Given the description of an element on the screen output the (x, y) to click on. 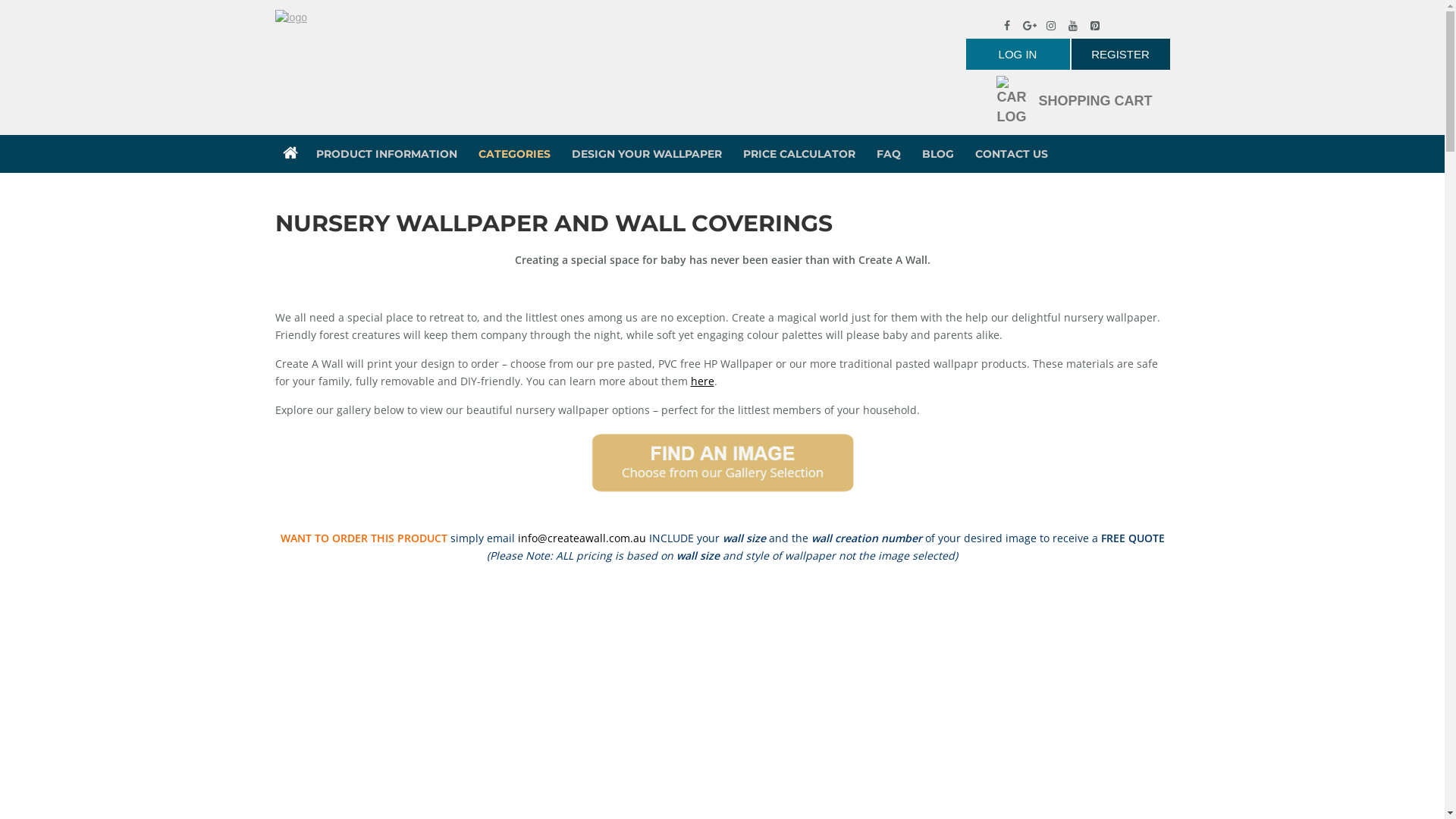
CREATE A WALL AUSTRALIA DIY WALL COVERINGS Element type: text (289, 147)
Wall Creation No. 16248925 Element type: hover (834, 667)
CONTACT US Element type: text (1011, 153)
LOG IN Element type: text (1018, 53)
Wall Creation No. 16248907 Element type: hover (610, 667)
CATEGORIES Element type: text (513, 153)
Wall Creation No. 16248907 Element type: hover (610, 694)
FAQ Element type: text (888, 153)
info@createawall.com.au Element type: text (581, 537)
Wall Creation No. 132371507 Element type: hover (387, 694)
PRODUCT INFORMATION Element type: text (385, 153)
Wall Creation No. 132371507 Element type: hover (387, 667)
PRICE CALCULATOR Element type: text (799, 153)
Wall Creation No. 16973315 Element type: hover (1057, 667)
here Element type: text (701, 380)
DESIGN YOUR WALLPAPER Element type: text (646, 153)
Create A Wall Element type: hover (290, 16)
REGISTER Element type: text (1119, 53)
SHOPPING CART Element type: text (1073, 100)
Wall Creation No. 16973315 Element type: hover (1057, 694)
BLOG Element type: text (937, 153)
Wall Creation No. 16248925 Element type: hover (834, 694)
